Given the description of an element on the screen output the (x, y) to click on. 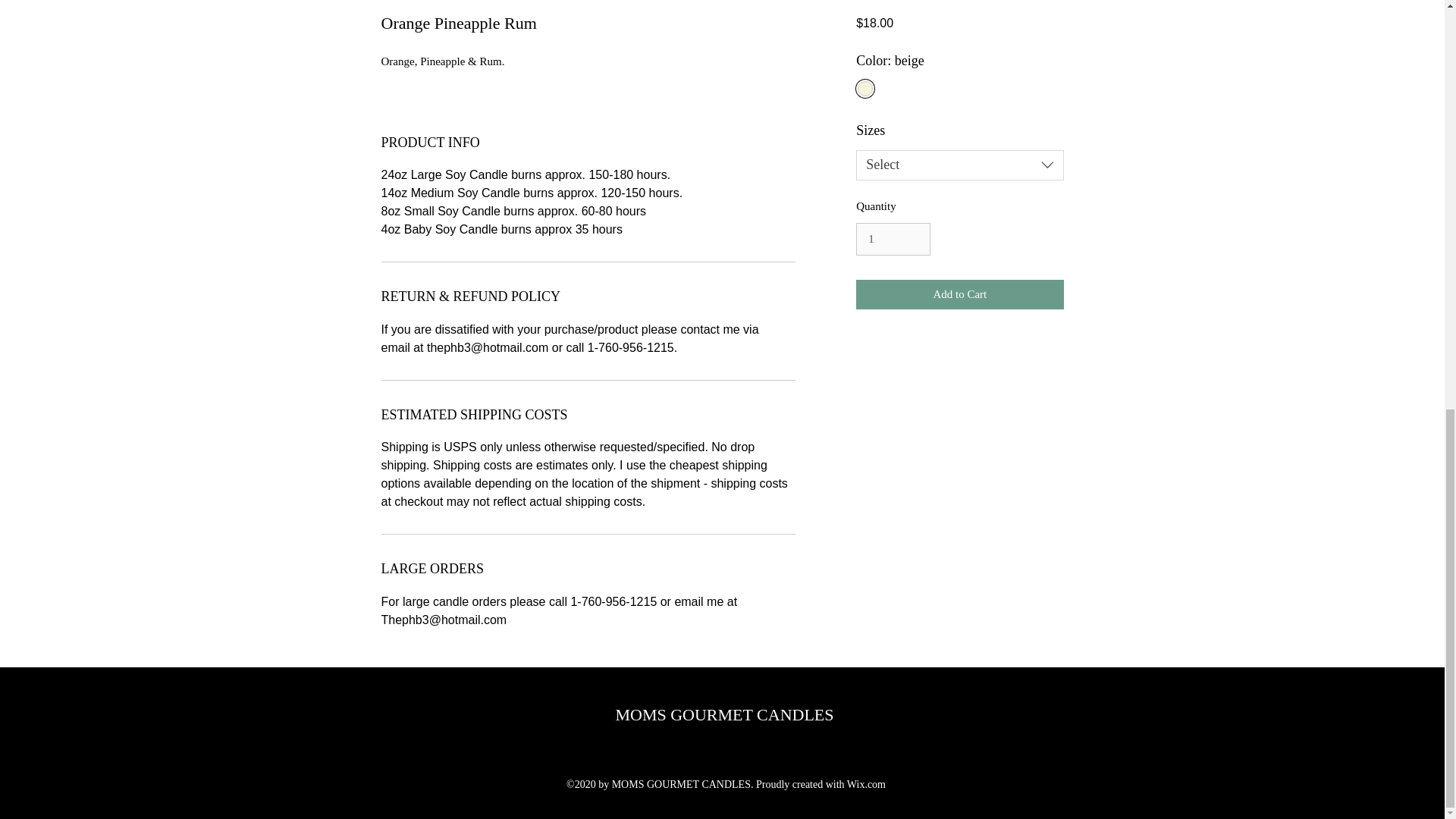
Select (959, 164)
MOMS GOURMET CANDLES (723, 714)
1 (893, 239)
Add to Cart (959, 294)
